Given the description of an element on the screen output the (x, y) to click on. 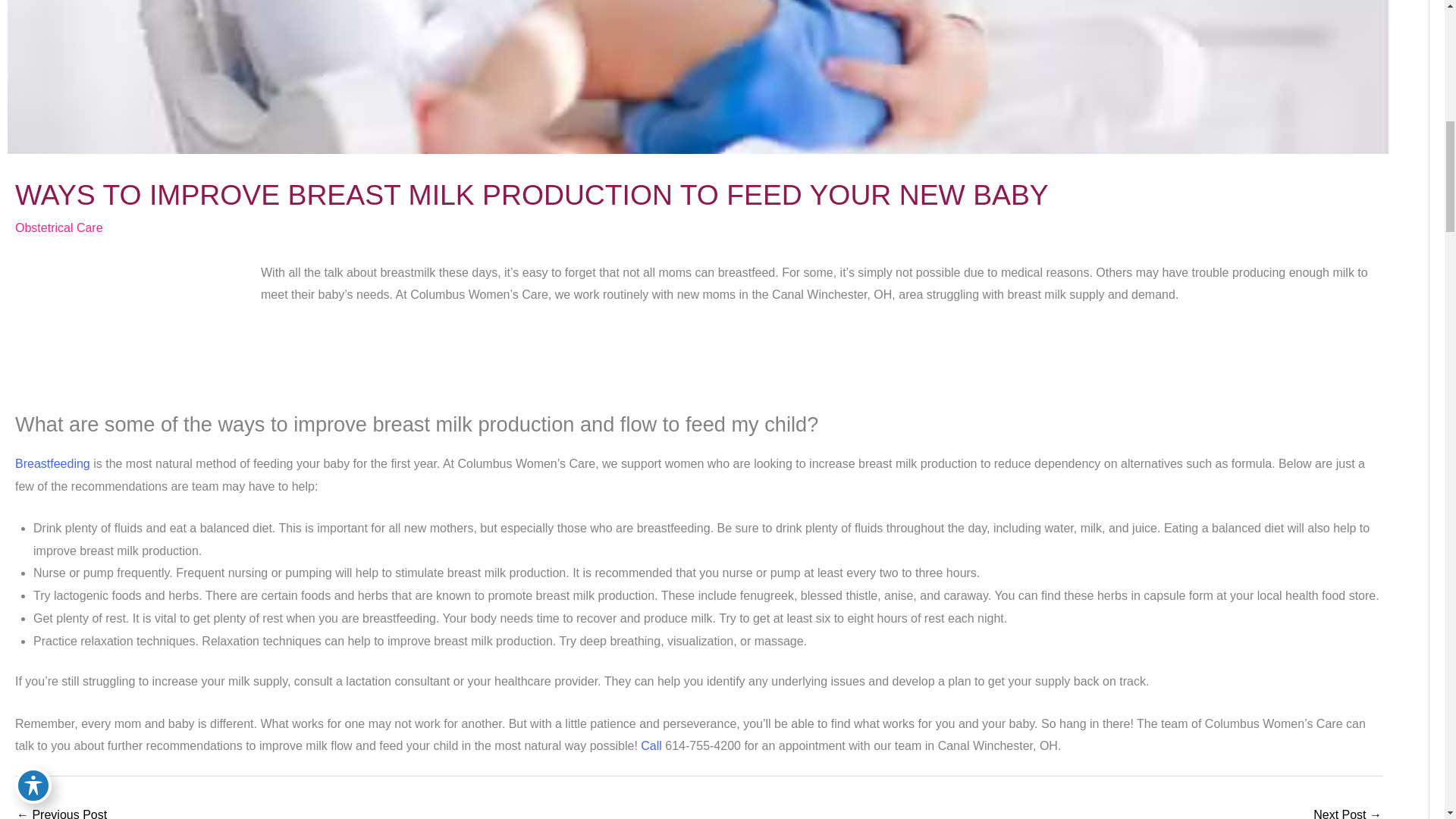
Kybella 101 (1347, 810)
